Given the description of an element on the screen output the (x, y) to click on. 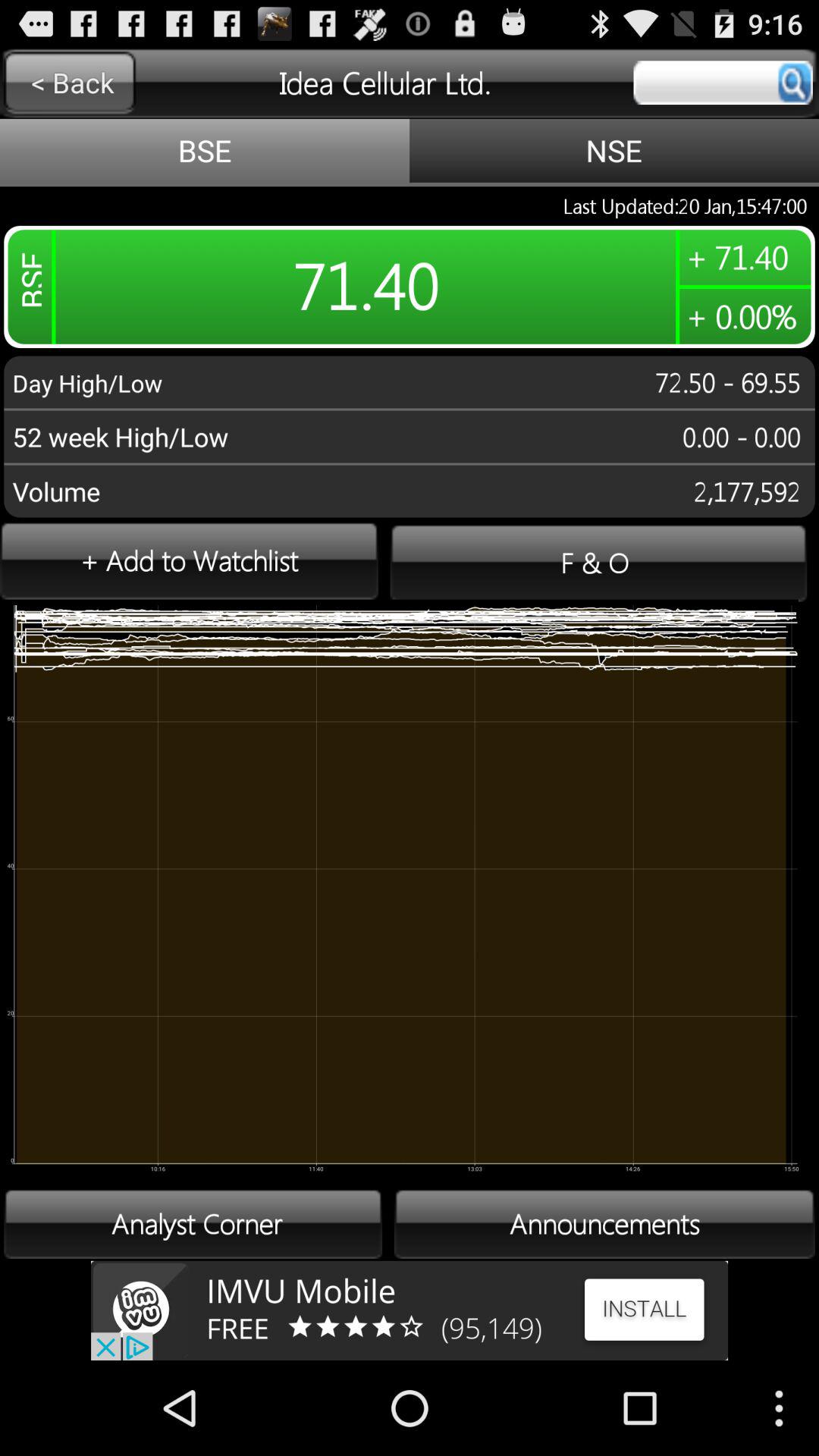
advertisement banner (409, 1310)
